Given the description of an element on the screen output the (x, y) to click on. 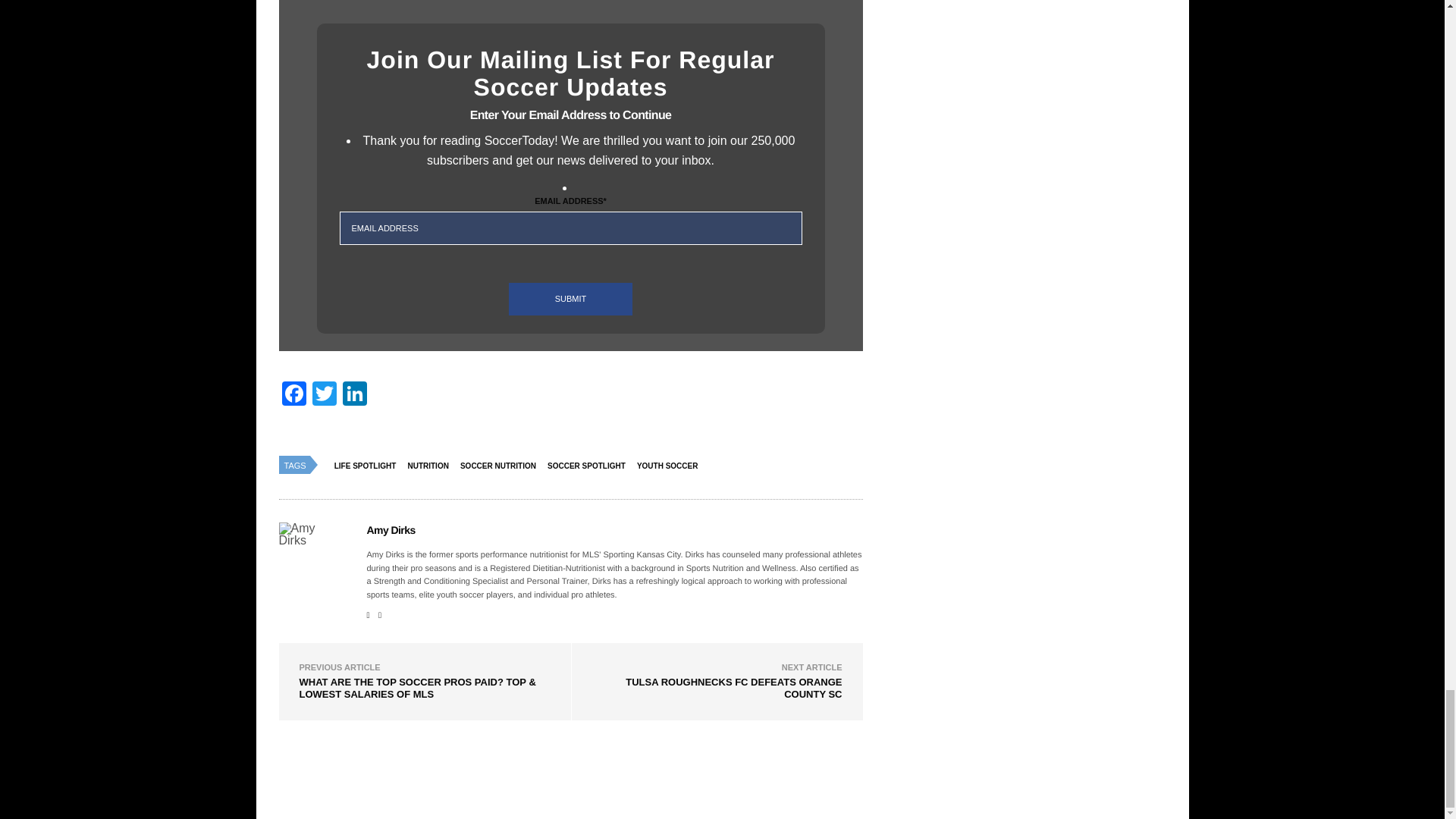
TULSA ROUGHNECKS FC DEFEATS ORANGE COUNTY SC (733, 688)
Twitter (323, 395)
Submit (570, 298)
Facebook (293, 395)
LinkedIn (354, 395)
